Given the description of an element on the screen output the (x, y) to click on. 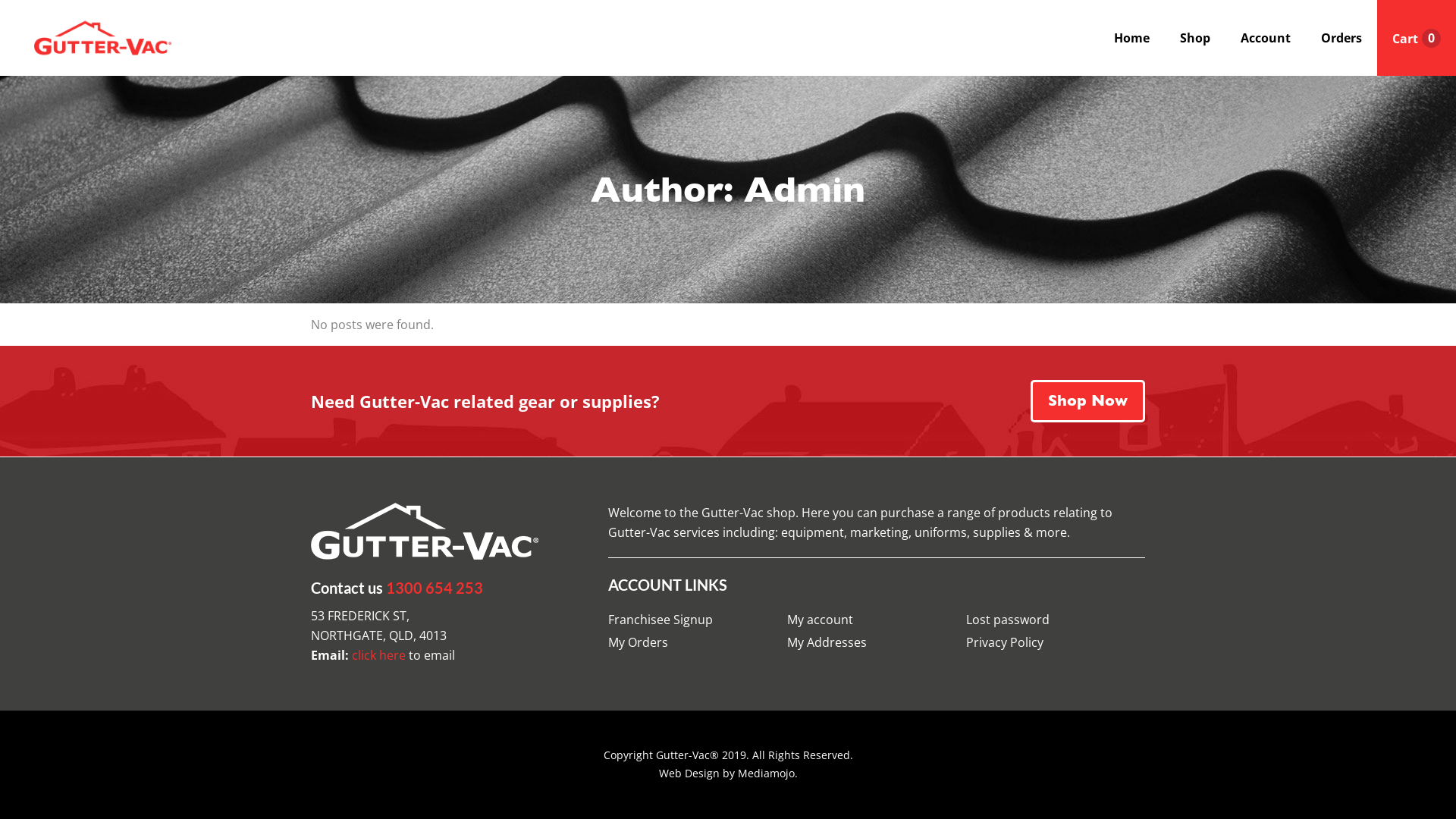
1300 654 253 Element type: text (434, 587)
Shop Element type: text (1194, 37)
My account Element type: text (876, 619)
Lost password Element type: text (1055, 619)
Account Element type: text (1265, 37)
click here Element type: text (378, 654)
Orders Element type: text (1341, 37)
Shop Now Element type: text (1087, 400)
0 Element type: text (1416, 38)
My Addresses Element type: text (876, 641)
Privacy Policy Element type: text (1055, 641)
Franchisee Signup Element type: text (697, 619)
My Orders Element type: text (697, 641)
Home Element type: text (1131, 37)
Web Design by Mediamojo. Element type: text (727, 772)
